Given the description of an element on the screen output the (x, y) to click on. 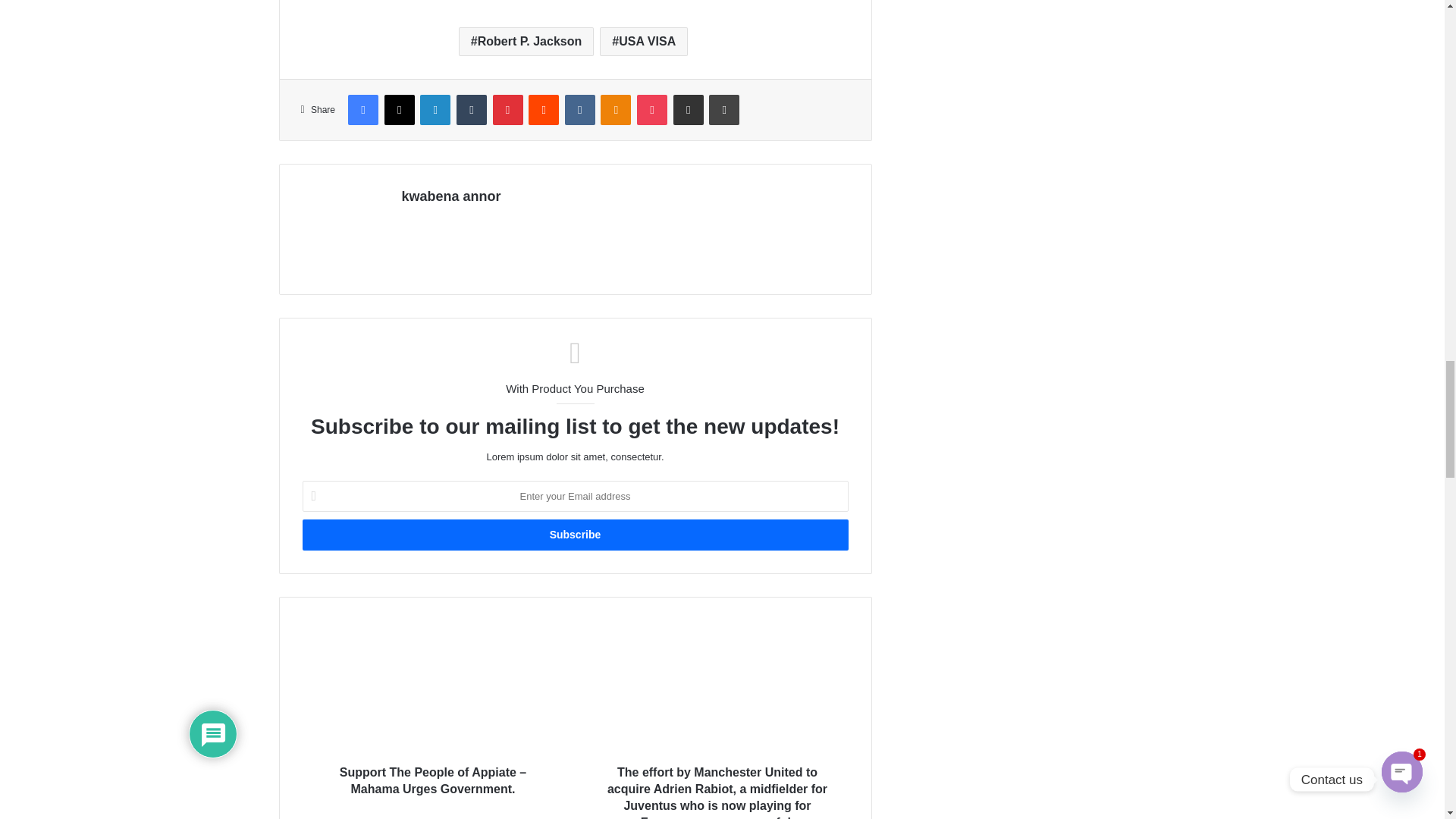
Subscribe (574, 534)
